Given the description of an element on the screen output the (x, y) to click on. 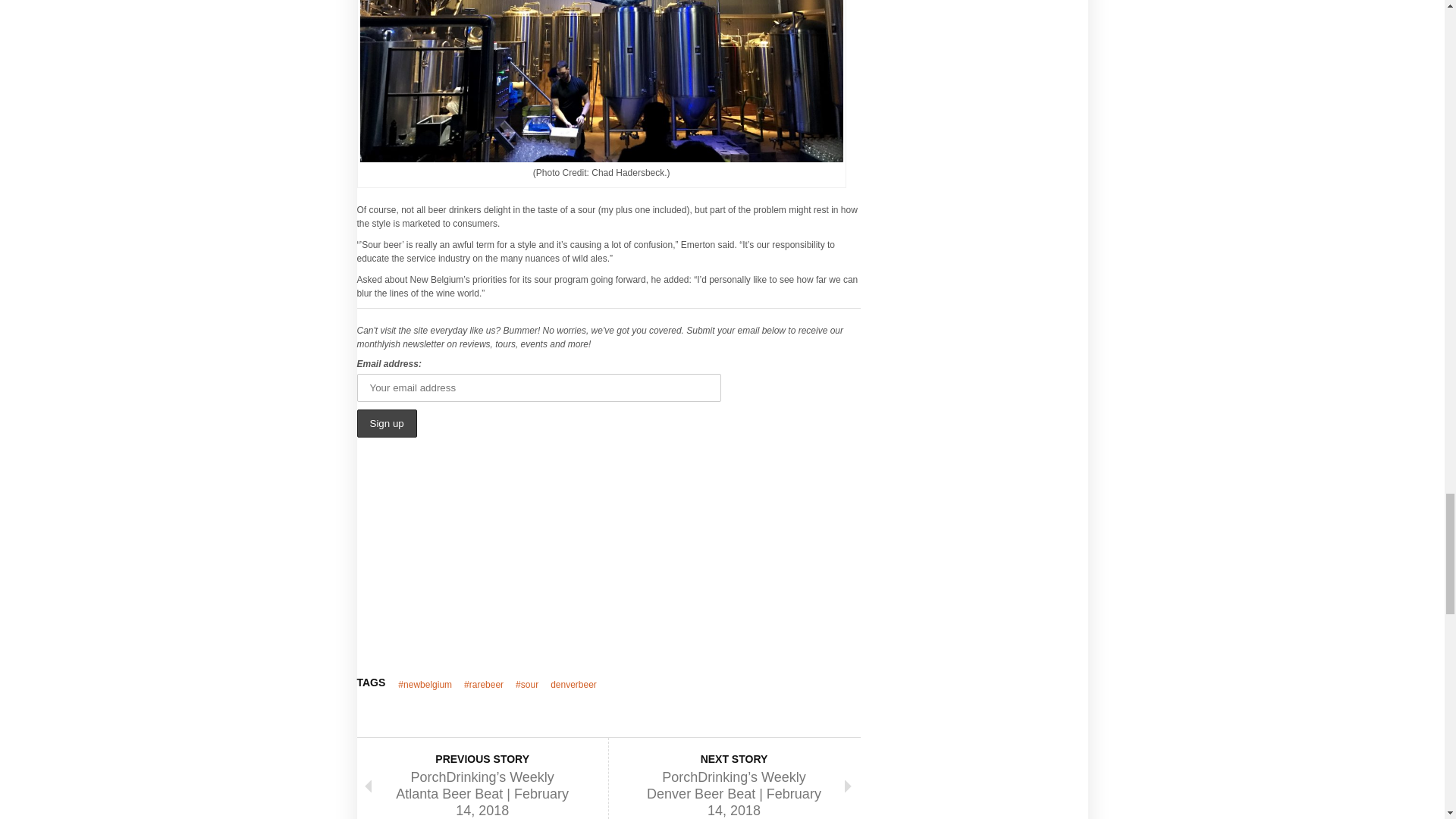
Sign up (386, 423)
